Given the description of an element on the screen output the (x, y) to click on. 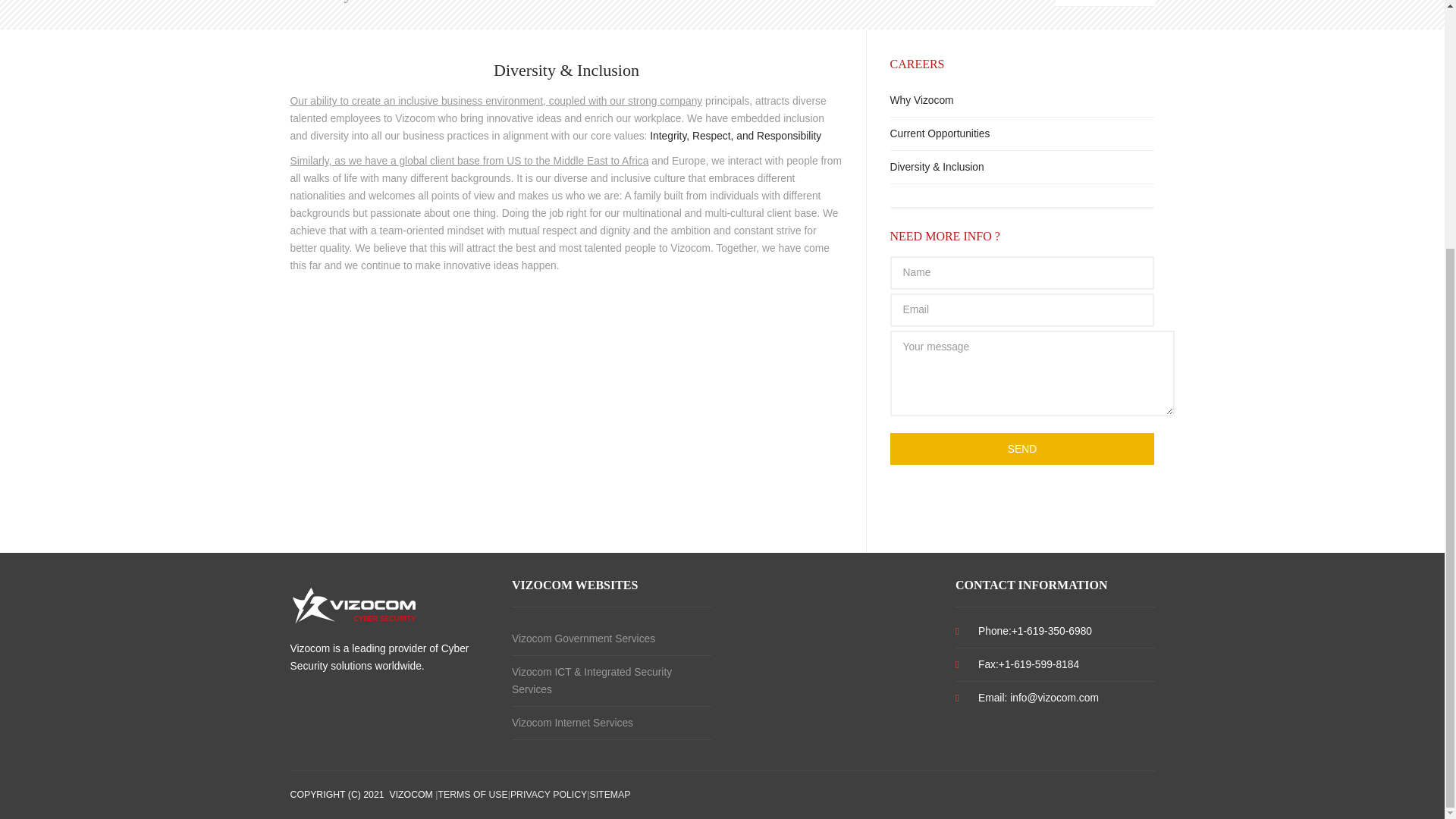
Send (1021, 449)
Vizocom Government Services (611, 639)
Current Opportunities (1021, 133)
Send (1021, 449)
Name (1021, 272)
Email (1021, 309)
Why Vizocom (1021, 100)
